Given the description of an element on the screen output the (x, y) to click on. 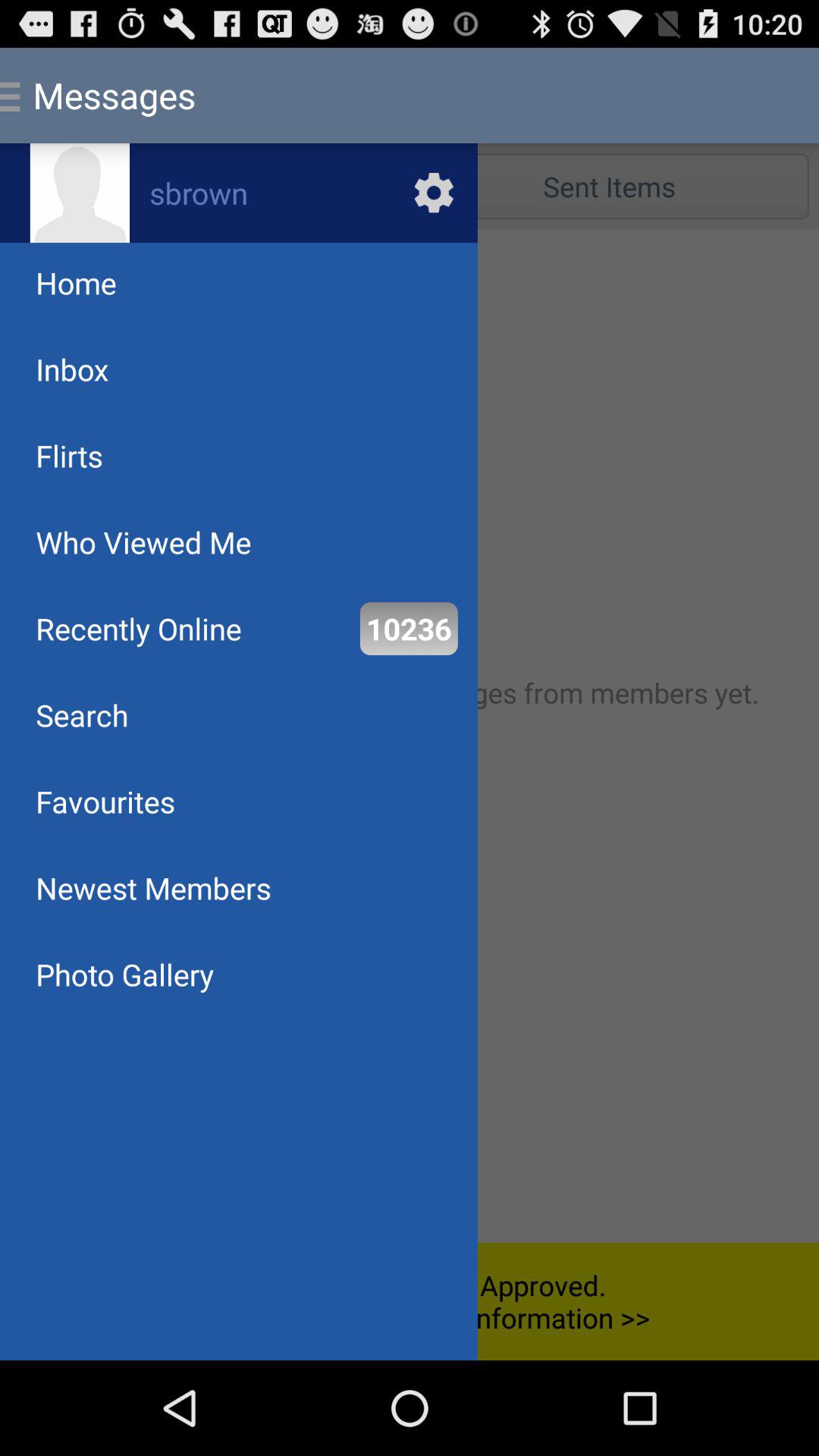
profile setting (238, 192)
